Given the description of an element on the screen output the (x, y) to click on. 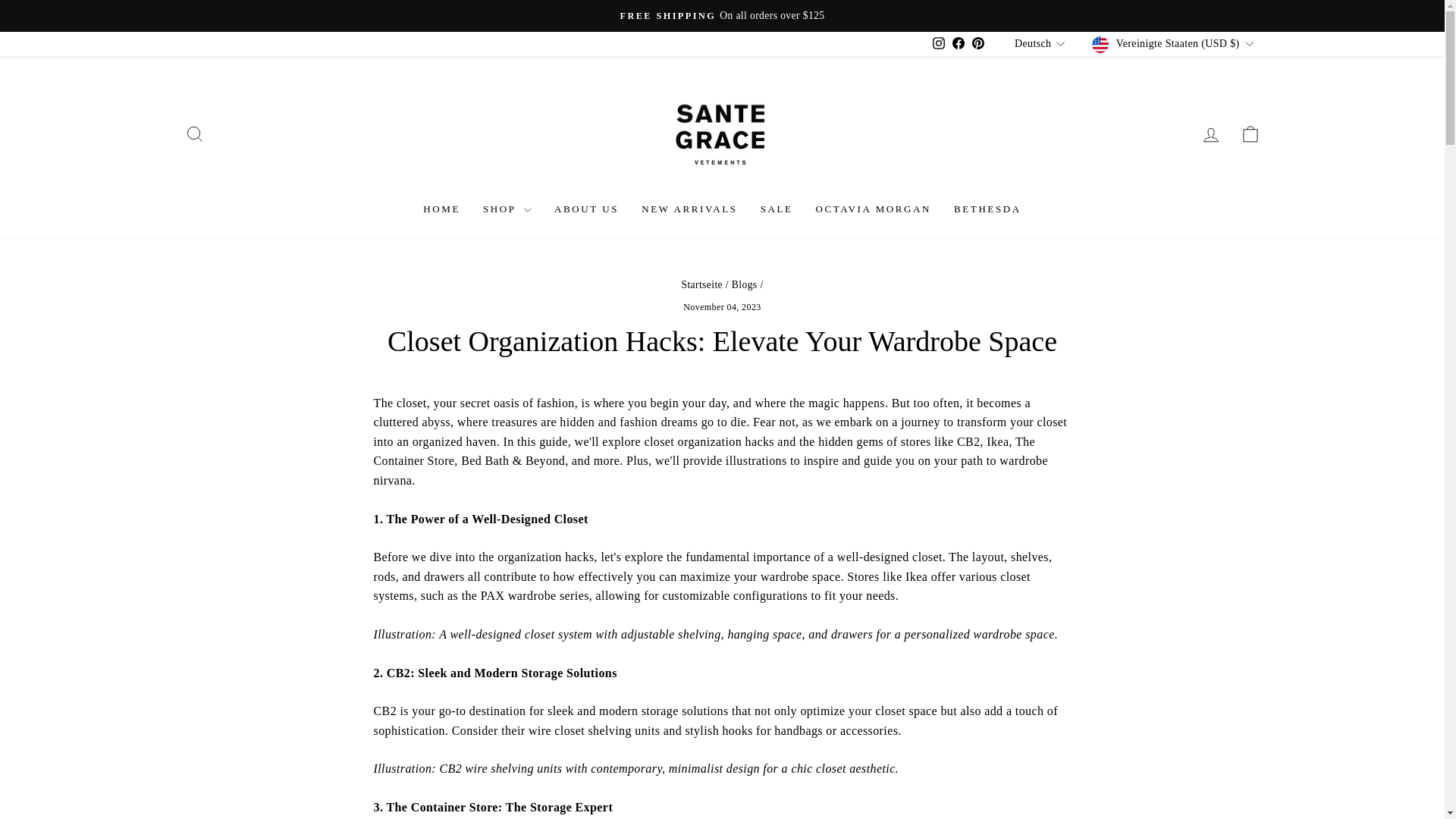
instagram (938, 42)
ACCOUNT (1210, 134)
ICON-SEARCH (194, 133)
ICON-BAG-MINIMAL (1249, 133)
